Given the description of an element on the screen output the (x, y) to click on. 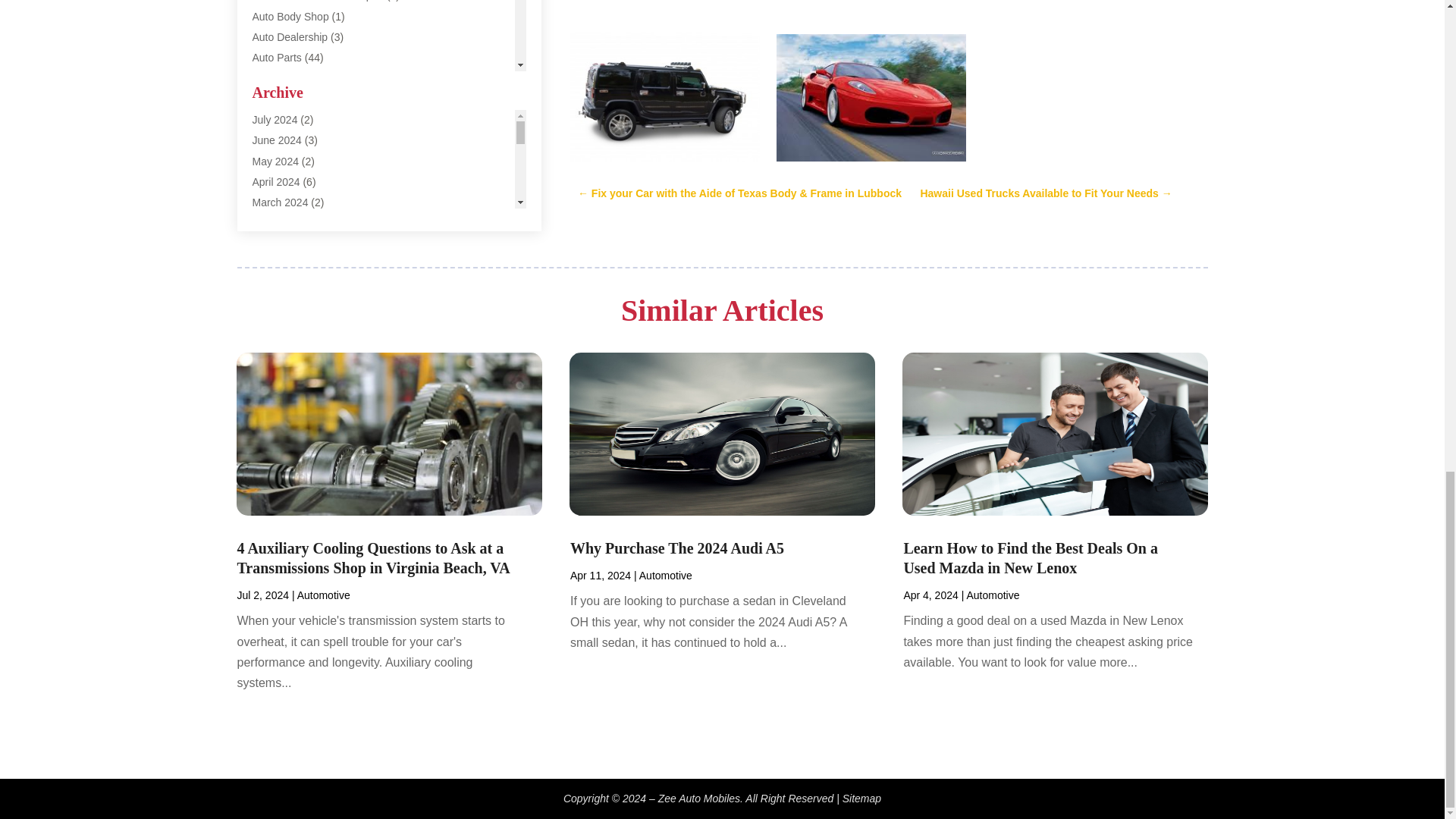
Auto Parts (276, 57)
Car Detailing Service (301, 325)
Car Rental (276, 346)
Car Repair (276, 367)
Automotive Industry (298, 201)
Automotive (277, 181)
Car Dealer (276, 284)
Auto Body Shop (290, 16)
Auto Repair (279, 78)
Car Dealership (286, 304)
Car Restoration Service (308, 387)
Automotive Repair Shop (308, 222)
Autos (265, 243)
Auto Dealership (289, 37)
Business (273, 263)
